Given the description of an element on the screen output the (x, y) to click on. 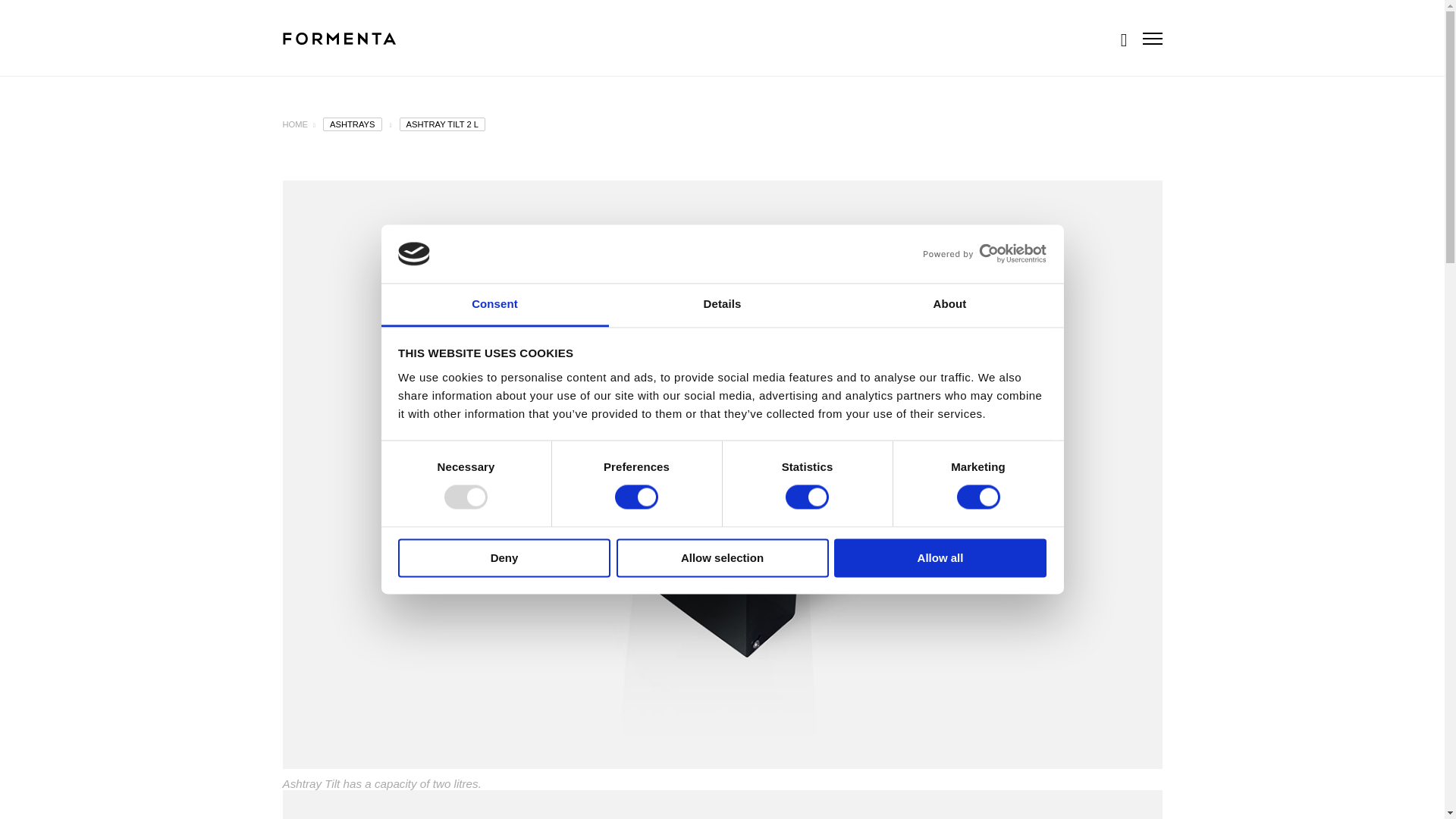
Deny (503, 557)
Allow selection (721, 557)
Details (721, 304)
Consent (494, 304)
About (948, 304)
